Given the description of an element on the screen output the (x, y) to click on. 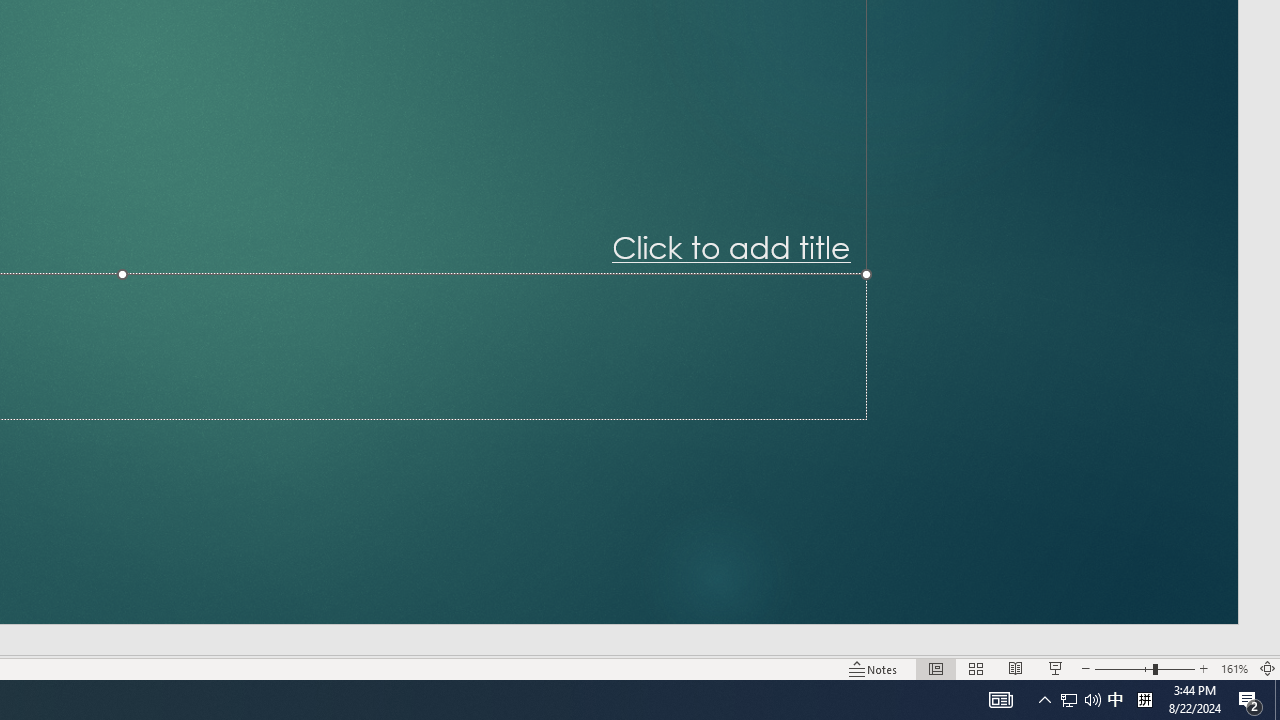
Zoom 161% (1234, 668)
